Given the description of an element on the screen output the (x, y) to click on. 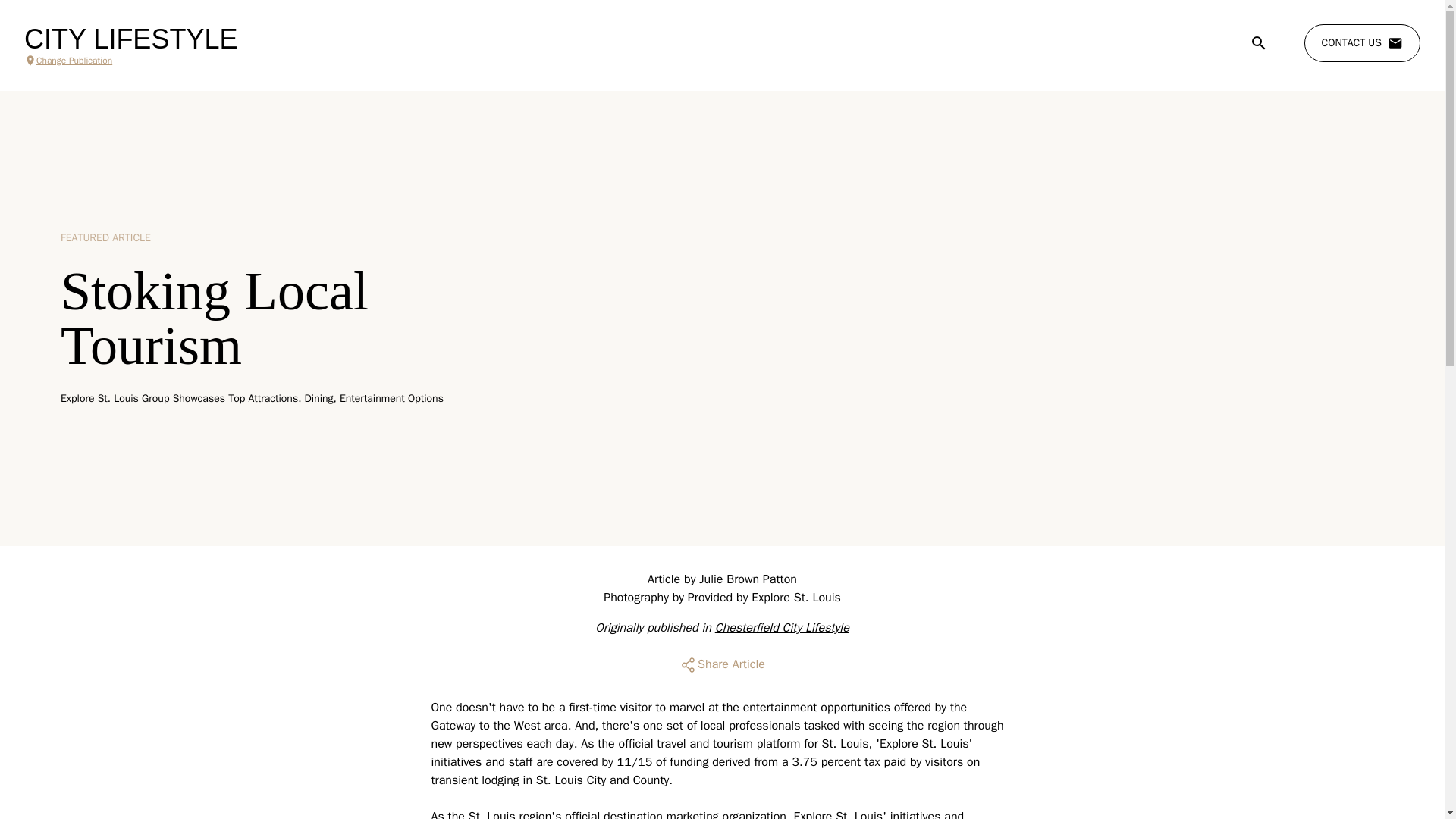
CONTACT US (1362, 43)
Share Article (722, 664)
Change Publication (130, 60)
Chesterfield City Lifestyle (781, 627)
CITY LIFESTYLE (130, 39)
